Given the description of an element on the screen output the (x, y) to click on. 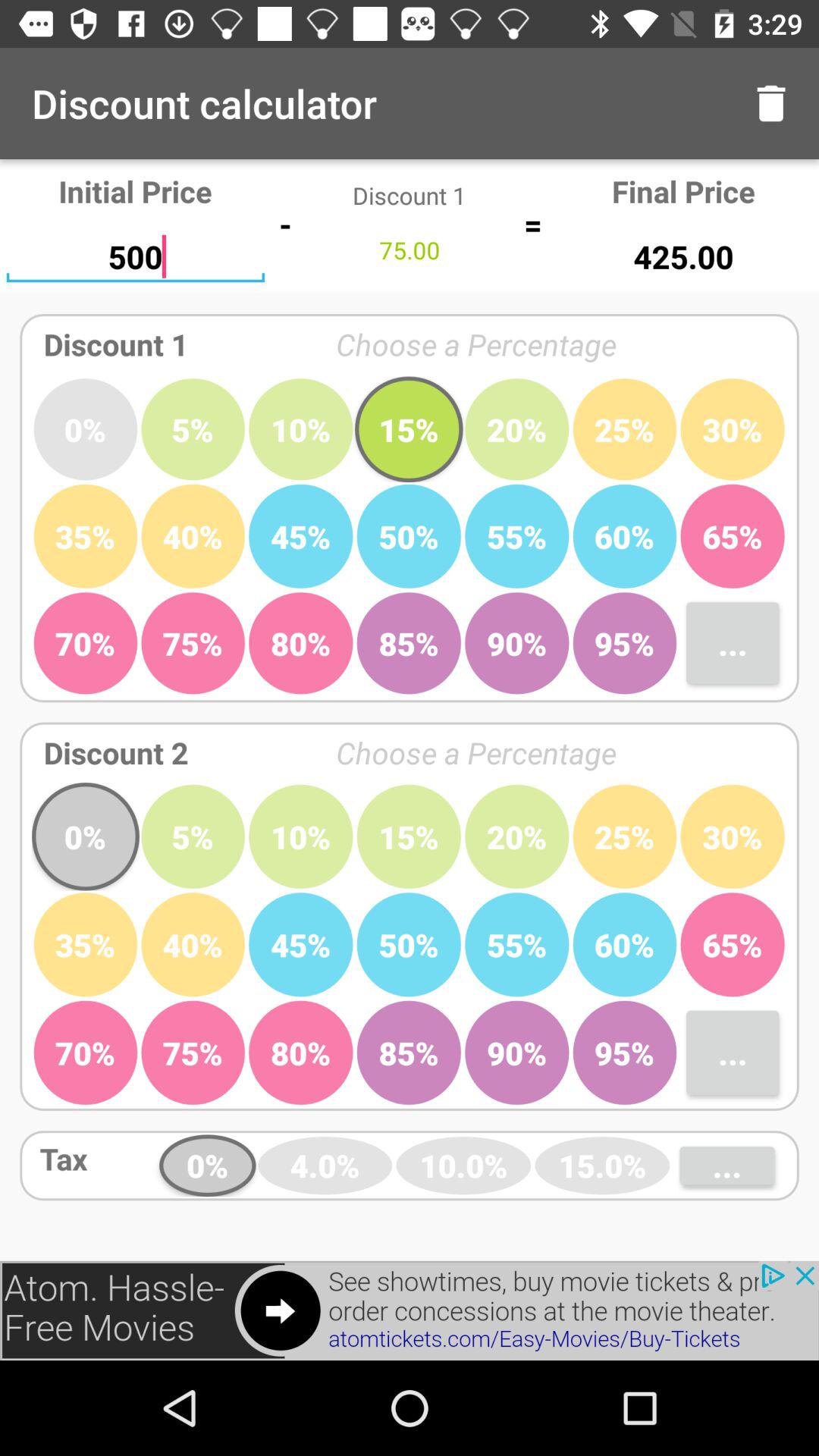
open advertisement (409, 1310)
